Given the description of an element on the screen output the (x, y) to click on. 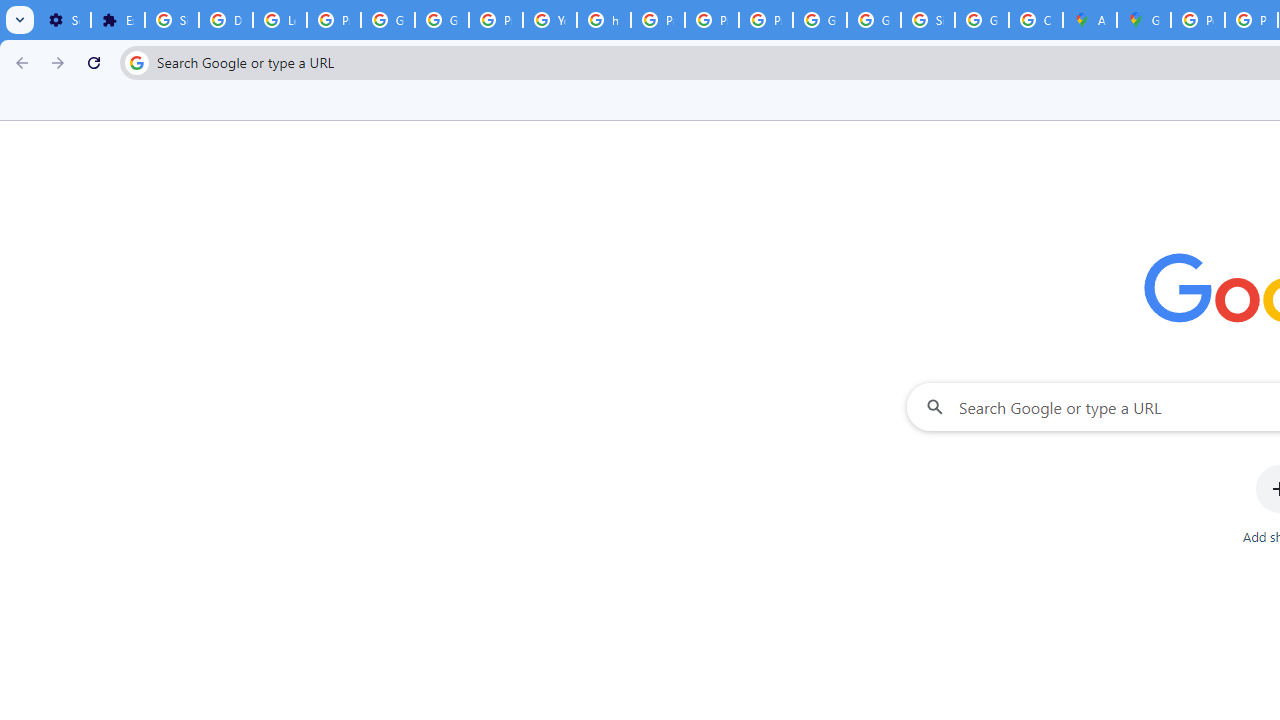
https://scholar.google.com/ (604, 20)
YouTube (550, 20)
Learn how to find your photos - Google Photos Help (280, 20)
Google Account Help (387, 20)
